Given the description of an element on the screen output the (x, y) to click on. 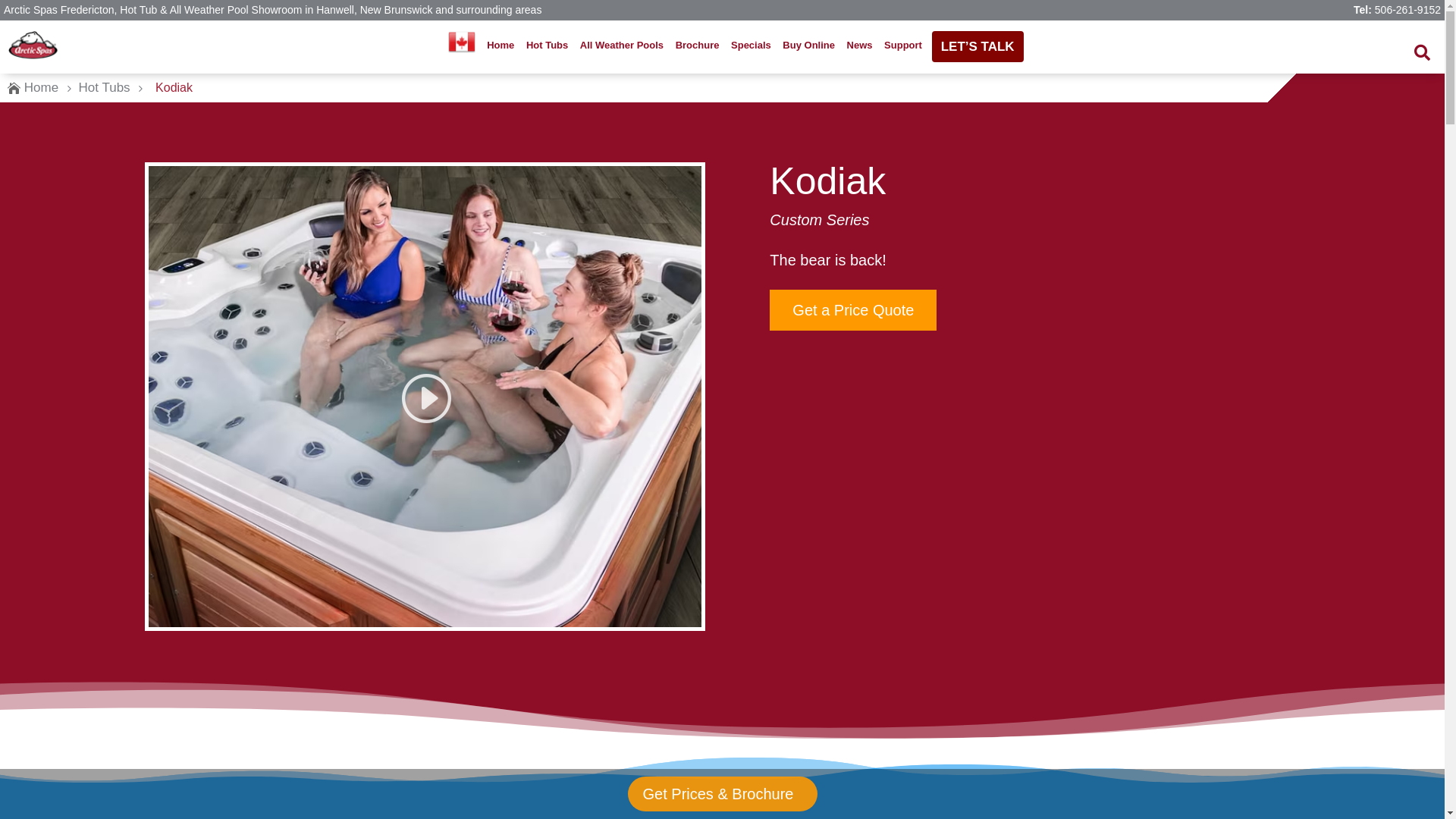
Specials Element type: text (751, 45)
News Element type: text (858, 45)
506-261-9152 Element type: text (1407, 9)
Choose Your Location Element type: hover (460, 45)
All Weather Pools Element type: text (622, 45)
Hot Tubs Element type: text (104, 87)
Custom Series Element type: text (819, 219)
Brochure Element type: text (696, 45)
Support Element type: text (902, 45)
Choose Your Location Element type: hover (461, 41)
Get a Price Quote Element type: text (852, 309)
Home Element type: text (41, 87)
Home Element type: text (500, 45)
Get Prices & Brochure Element type: text (721, 793)
Buy Online Element type: text (808, 45)
Arctic Spas - Kodiak Element type: hover (424, 396)
Hot Tubs Element type: text (547, 45)
